Given the description of an element on the screen output the (x, y) to click on. 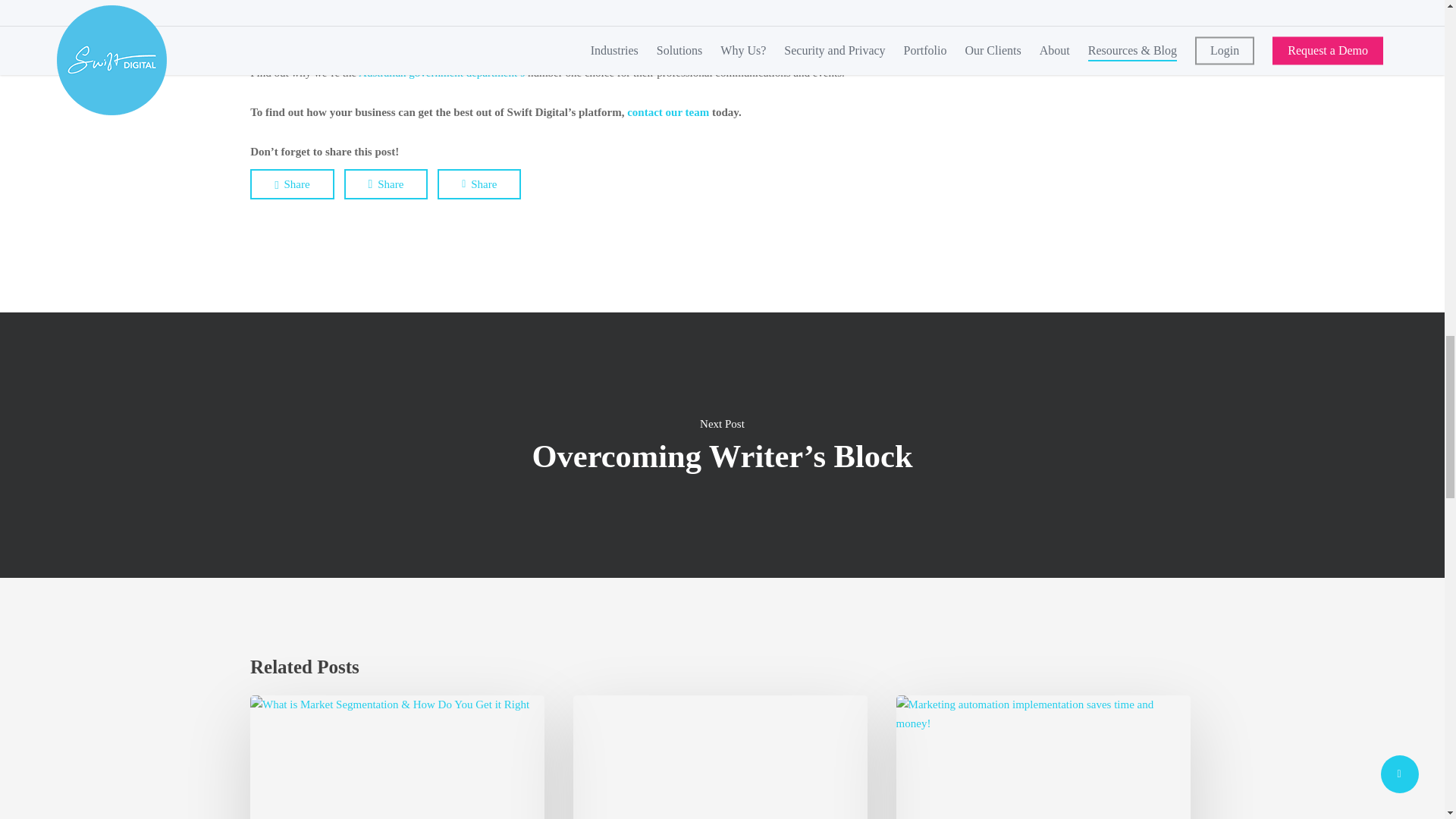
Share this (479, 183)
Share this (291, 183)
Share this (385, 183)
